Given the description of an element on the screen output the (x, y) to click on. 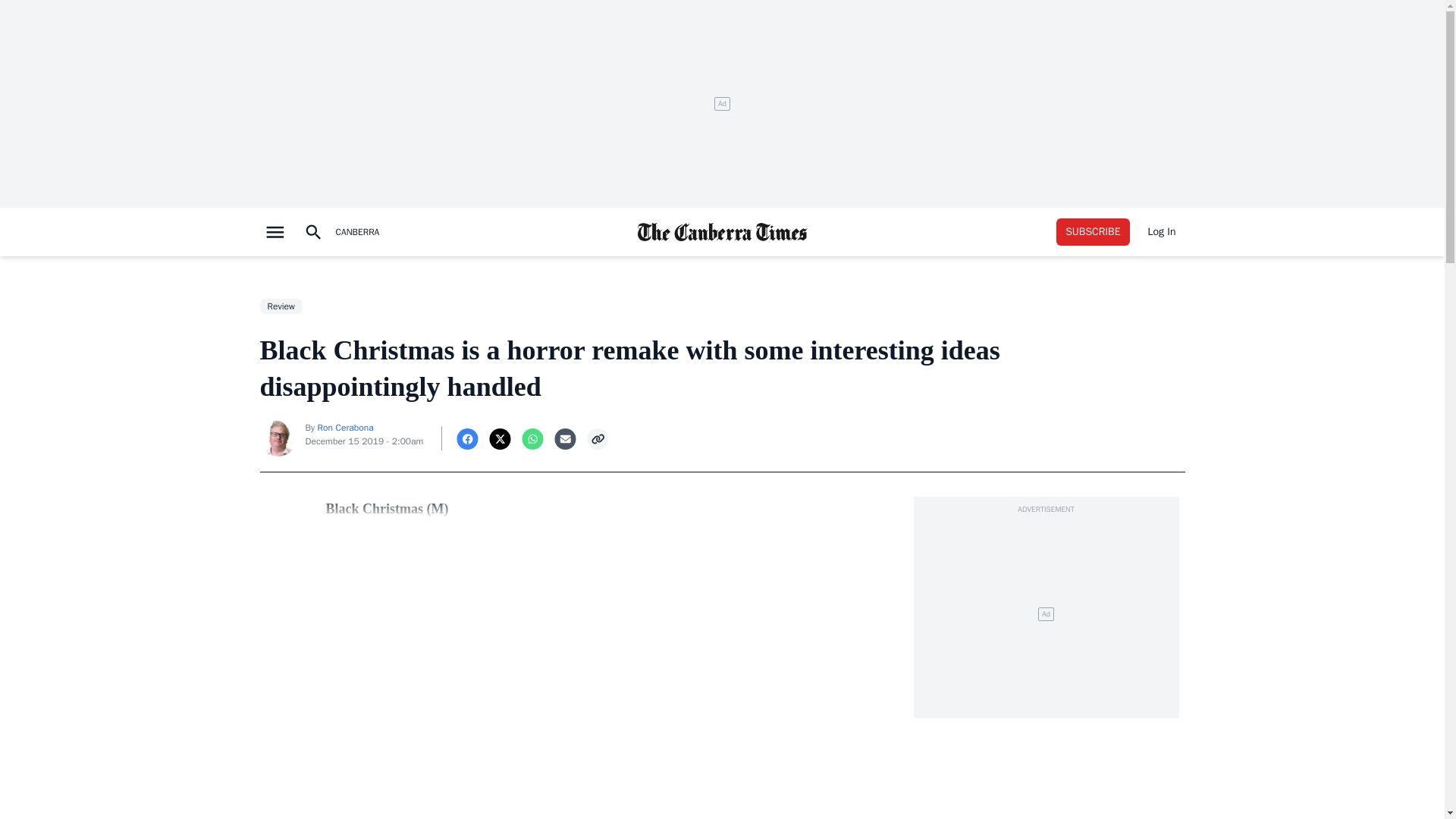
Log In (1161, 231)
CANBERRA (357, 232)
SUBSCRIBE (1093, 231)
